Given the description of an element on the screen output the (x, y) to click on. 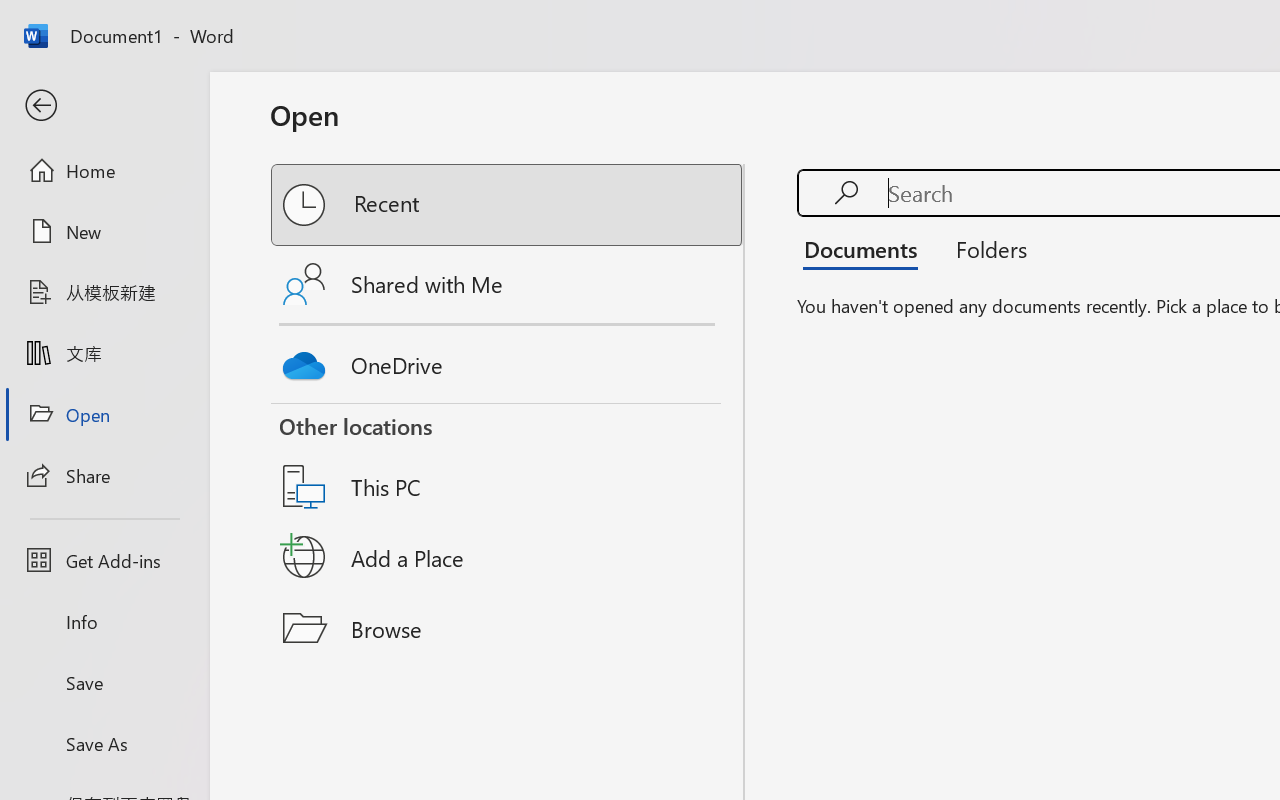
This PC (507, 461)
Folders (984, 248)
New (104, 231)
Add a Place (507, 557)
Documents (866, 248)
Info (104, 621)
Back (104, 106)
Shared with Me (507, 283)
Recent (507, 205)
